Given the description of an element on the screen output the (x, y) to click on. 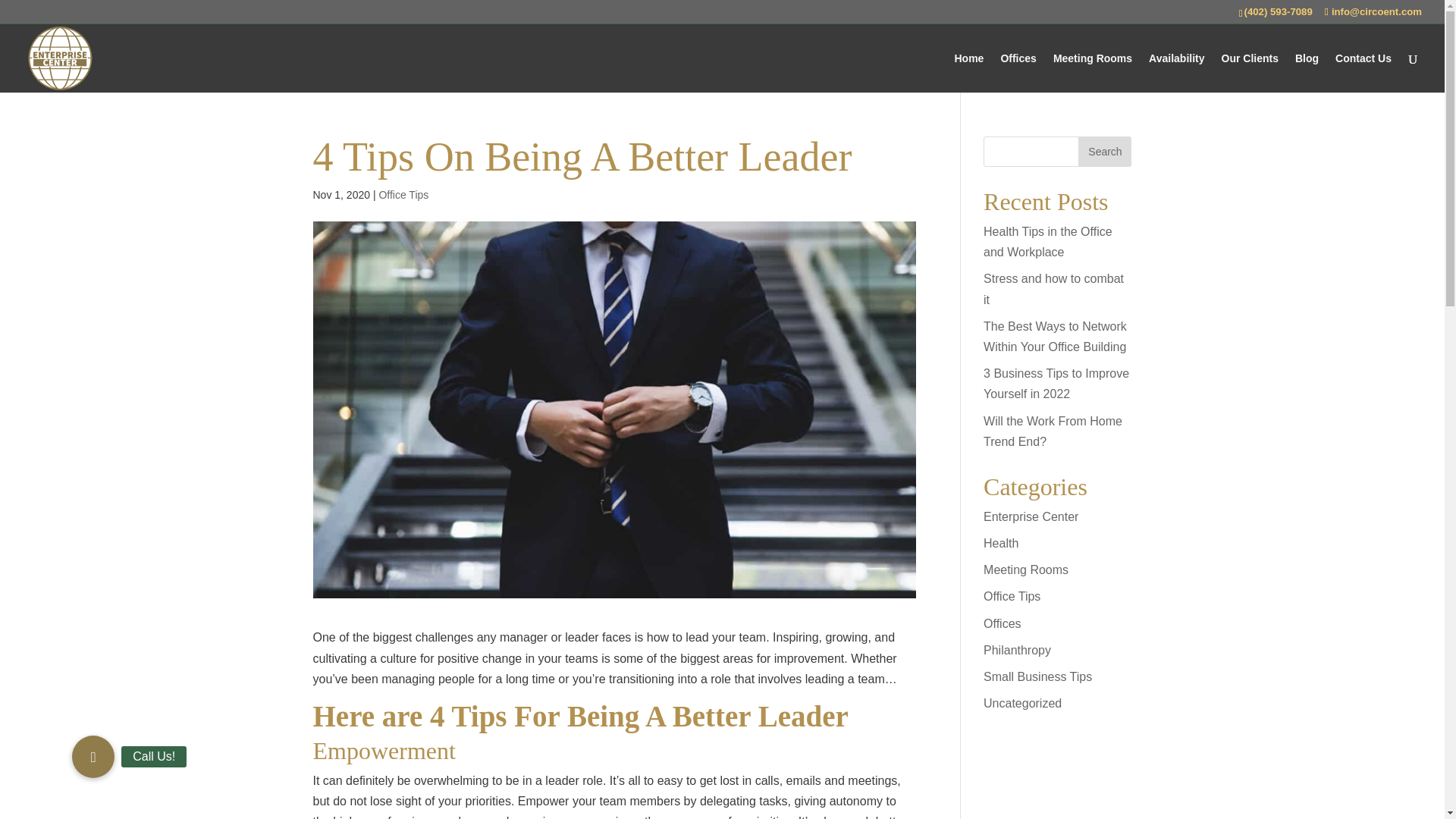
Our Clients (1249, 72)
Philanthropy (1017, 649)
Offices (1003, 623)
The Best Ways to Network Within Your Office Building (1055, 336)
Search (1104, 151)
Availability (1176, 72)
Contact Us (1363, 72)
Small Business Tips (1038, 676)
Meeting Rooms (1026, 569)
Health Tips in the Office and Workplace (1048, 241)
Uncategorized (1022, 703)
Offices (1017, 72)
Stress and how to combat it (1054, 288)
Will the Work From Home Trend End? (1053, 430)
Office Tips (1012, 595)
